Given the description of an element on the screen output the (x, y) to click on. 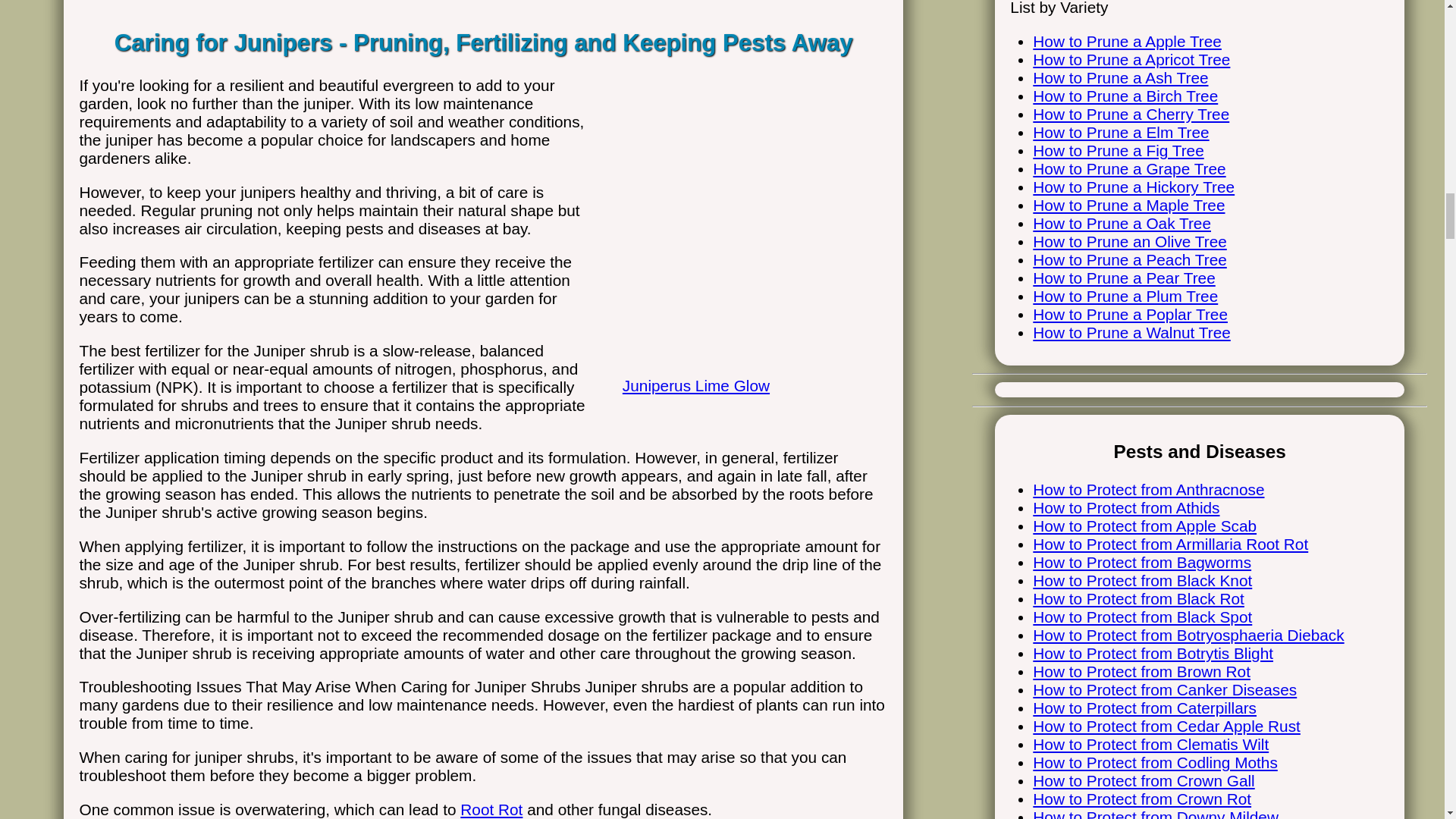
Root Rot (491, 809)
Juniperus Lime Glow (747, 368)
